Given the description of an element on the screen output the (x, y) to click on. 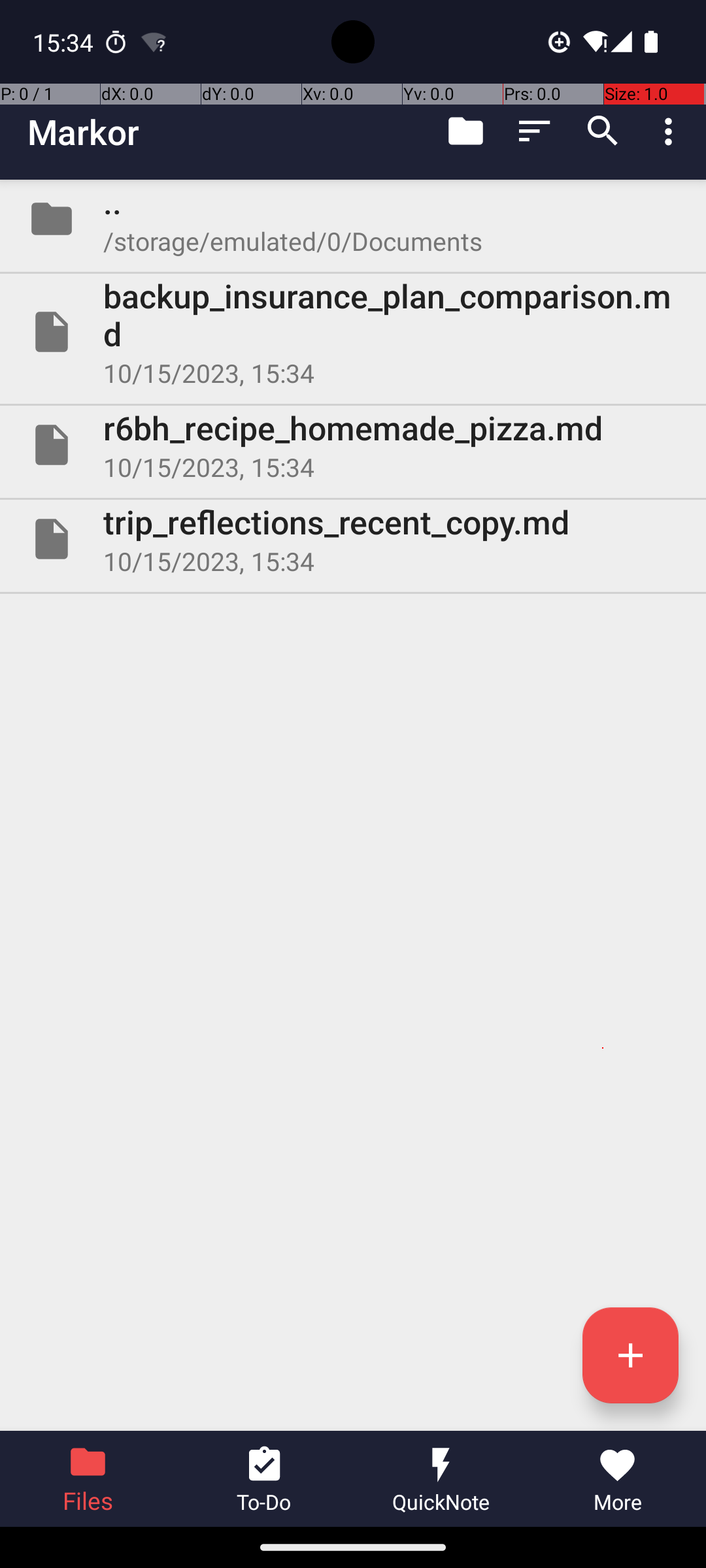
File backup_insurance_plan_comparison.md  Element type: android.widget.LinearLayout (353, 331)
File r6bh_recipe_homemade_pizza.md  Element type: android.widget.LinearLayout (353, 444)
File trip_reflections_recent_copy.md  Element type: android.widget.LinearLayout (353, 538)
